Given the description of an element on the screen output the (x, y) to click on. 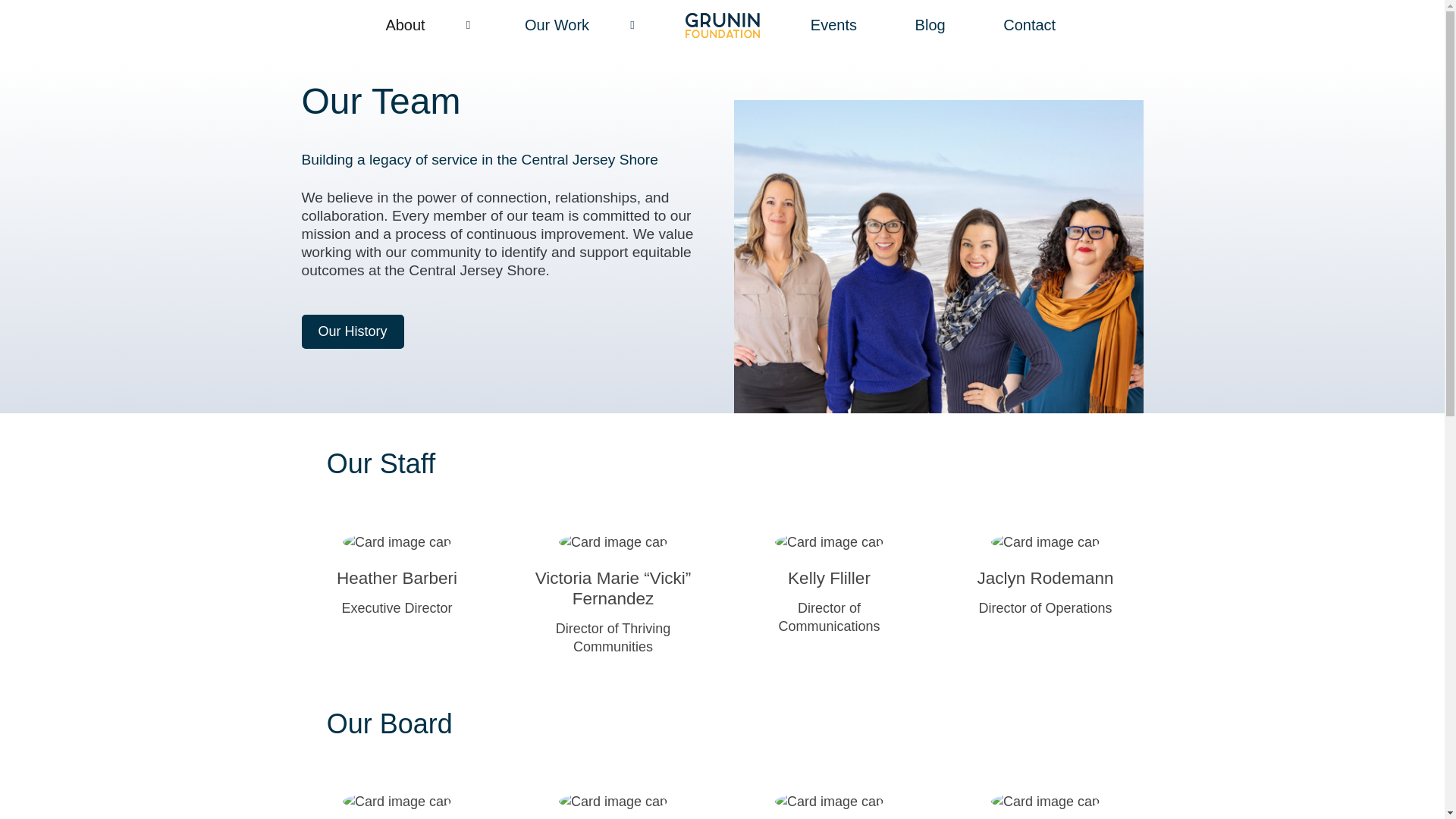
Our Work (581, 24)
Contact (1028, 24)
About (429, 24)
Blog (930, 24)
Our Work (581, 24)
Our History (352, 331)
About (429, 24)
Events (833, 24)
